Given the description of an element on the screen output the (x, y) to click on. 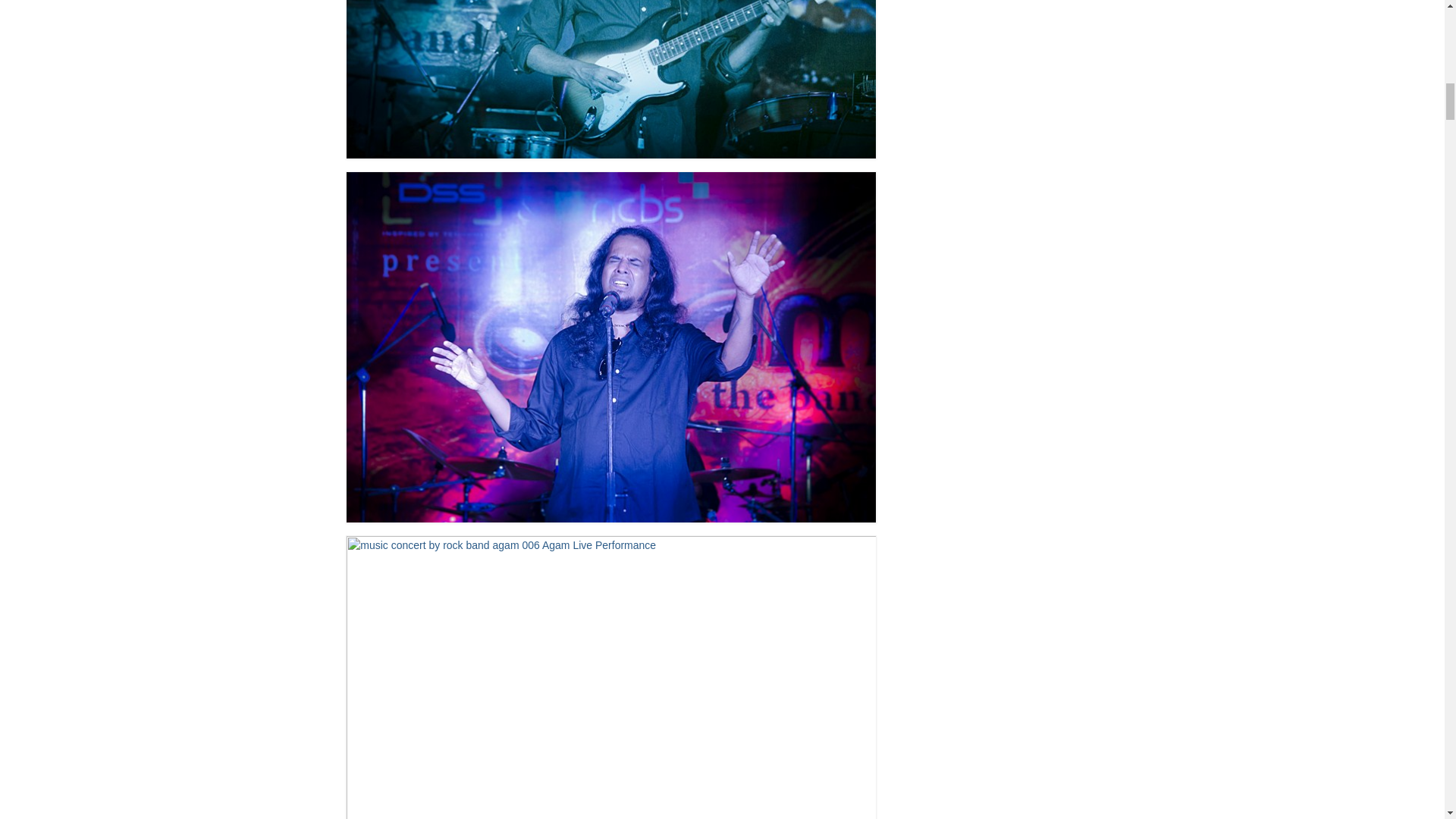
Agam Live Performance (611, 79)
